Given the description of an element on the screen output the (x, y) to click on. 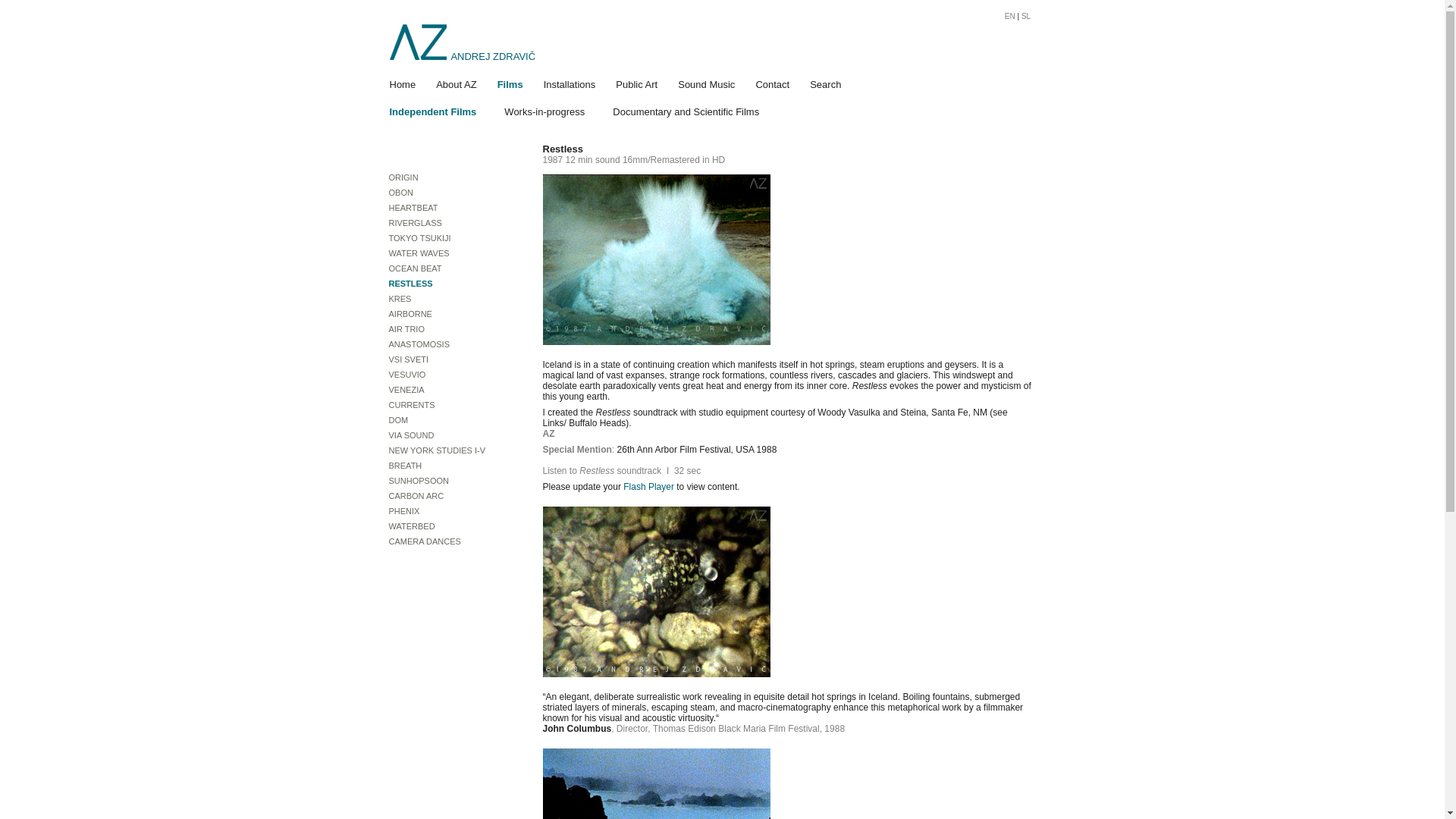
AIRBORNE (448, 313)
DOM (448, 419)
RIVERGLASS (448, 222)
Films (510, 83)
TOKYO TSUKIJI (448, 237)
Independent Films (432, 110)
ORIGIN (448, 177)
PHENIX (448, 510)
VENEZIA (448, 389)
WATER WAVES (448, 253)
